Given the description of an element on the screen output the (x, y) to click on. 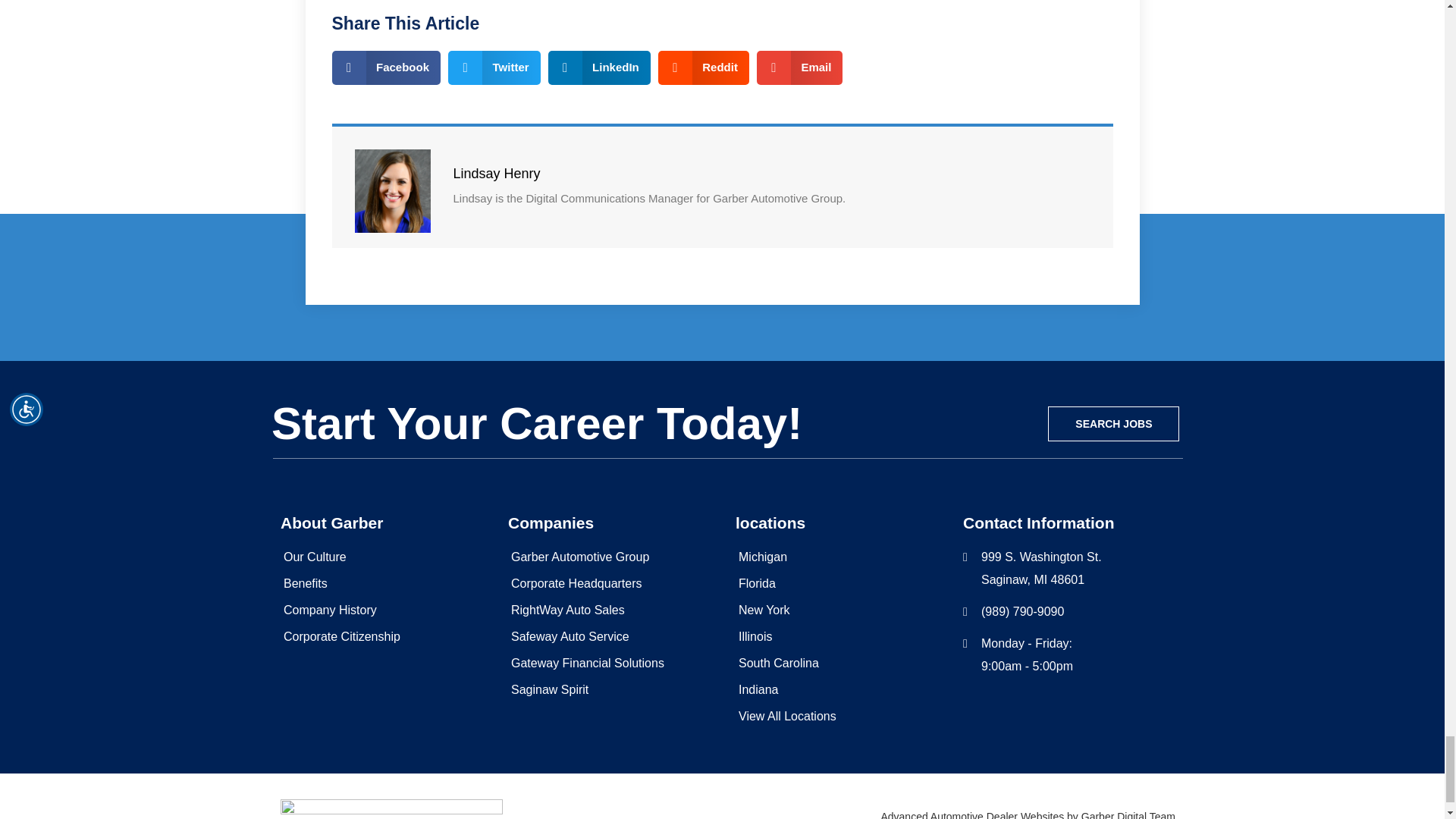
SEARCH JOBS (1113, 423)
